Given the description of an element on the screen output the (x, y) to click on. 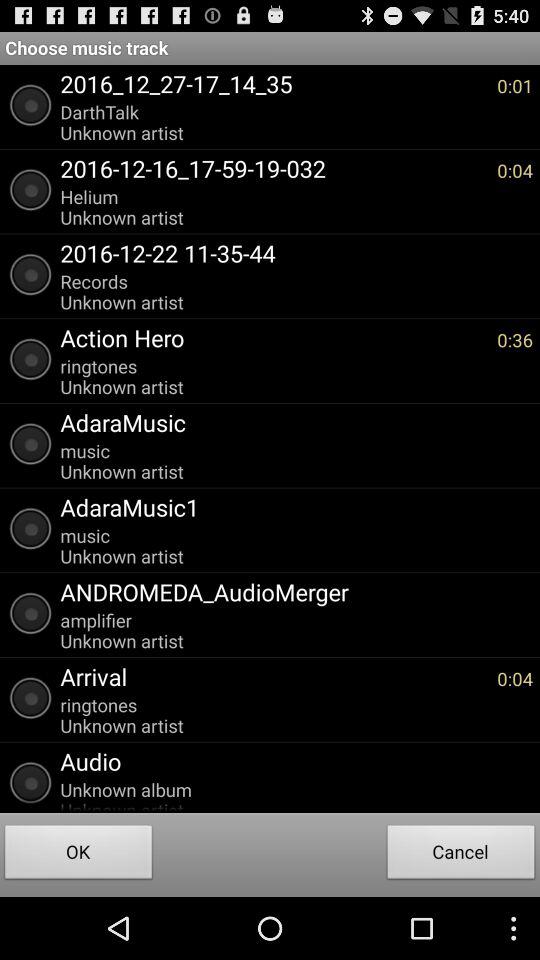
press item to the right of ok button (461, 854)
